Given the description of an element on the screen output the (x, y) to click on. 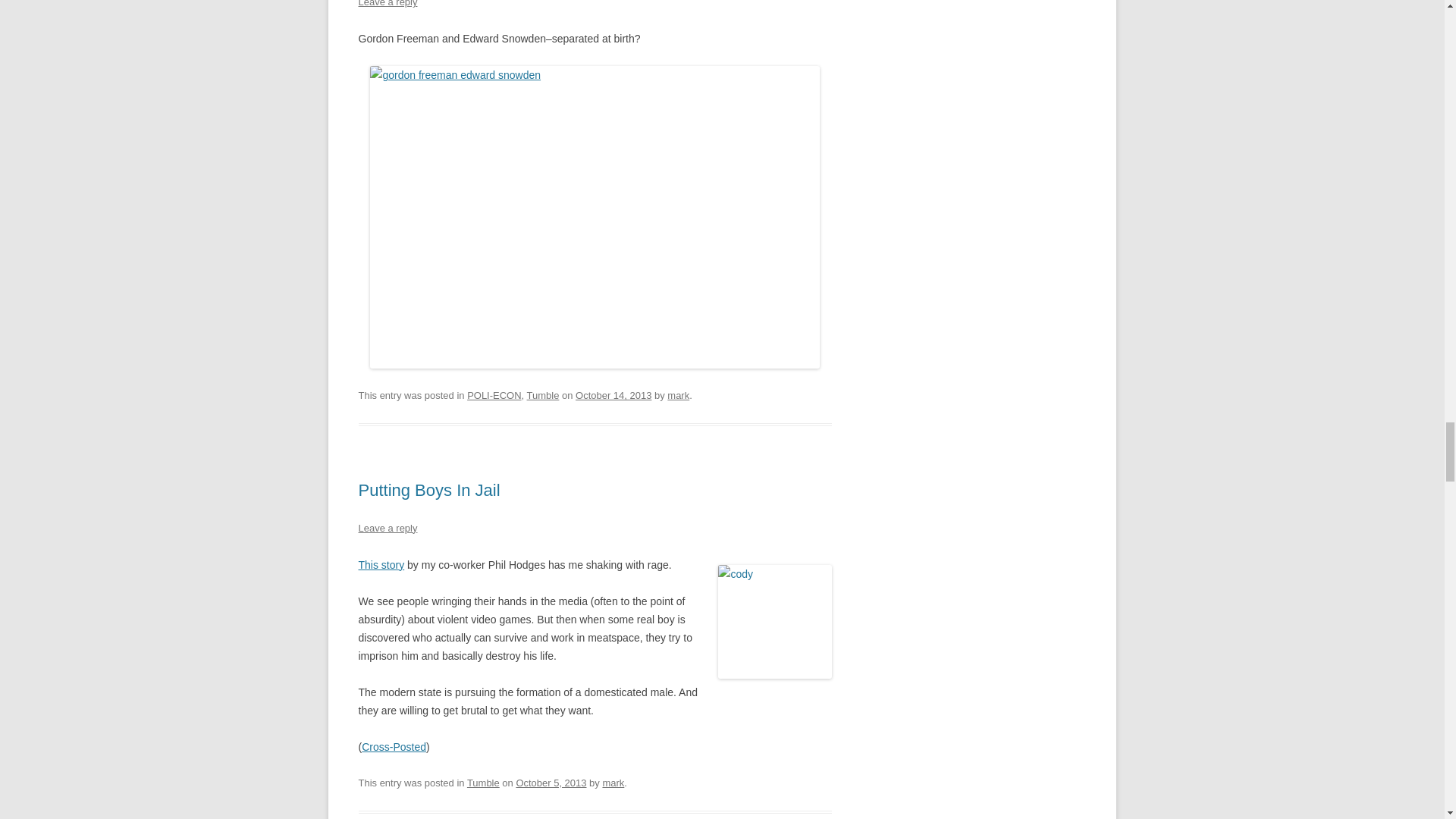
Leave a reply (387, 527)
Tumble (483, 782)
Putting Boys In Jail (428, 489)
4:00 am (550, 782)
Cross-Posted (393, 746)
View all posts by mark (613, 782)
mark (613, 782)
5:51 pm (612, 395)
Leave a reply (387, 3)
October 5, 2013 (550, 782)
Tumble (543, 395)
October 14, 2013 (612, 395)
This story (381, 564)
View all posts by mark (677, 395)
POLI-ECON (494, 395)
